Given the description of an element on the screen output the (x, y) to click on. 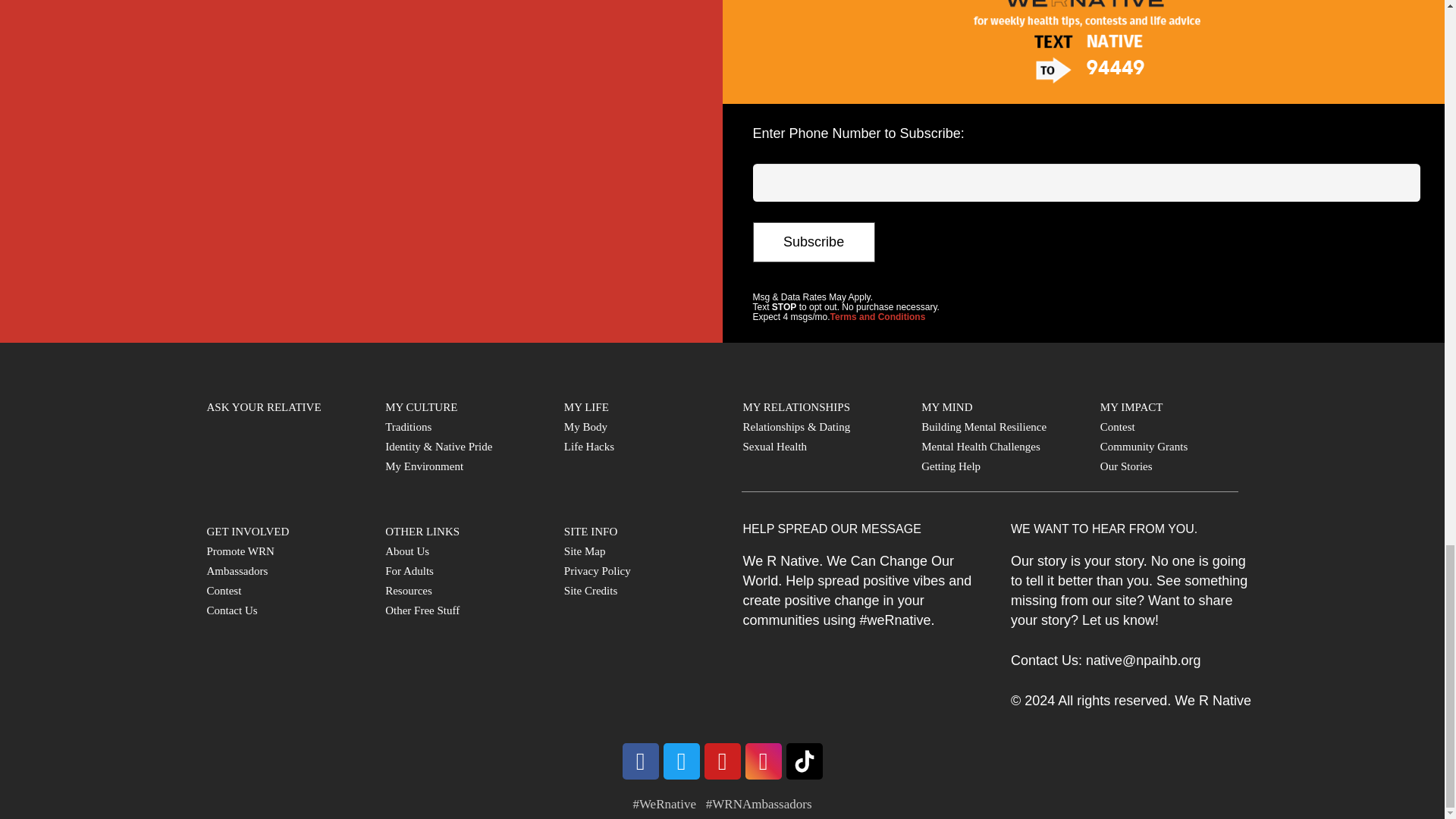
Subscribe (813, 241)
facebook (639, 760)
twitter (680, 760)
fb:page Facebook Social Plugin (358, 167)
